Given the description of an element on the screen output the (x, y) to click on. 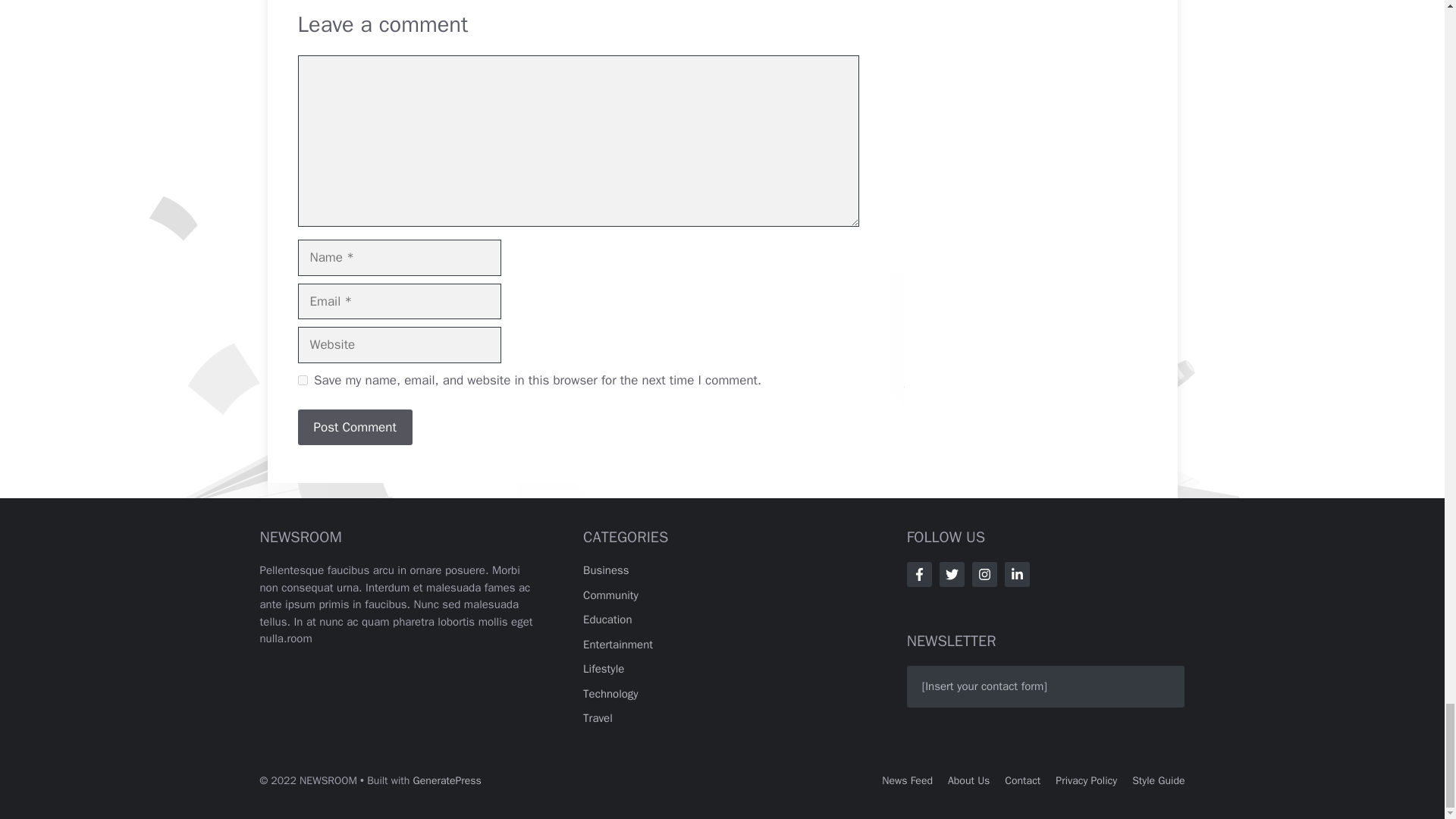
Post Comment (354, 427)
yes (302, 379)
